Given the description of an element on the screen output the (x, y) to click on. 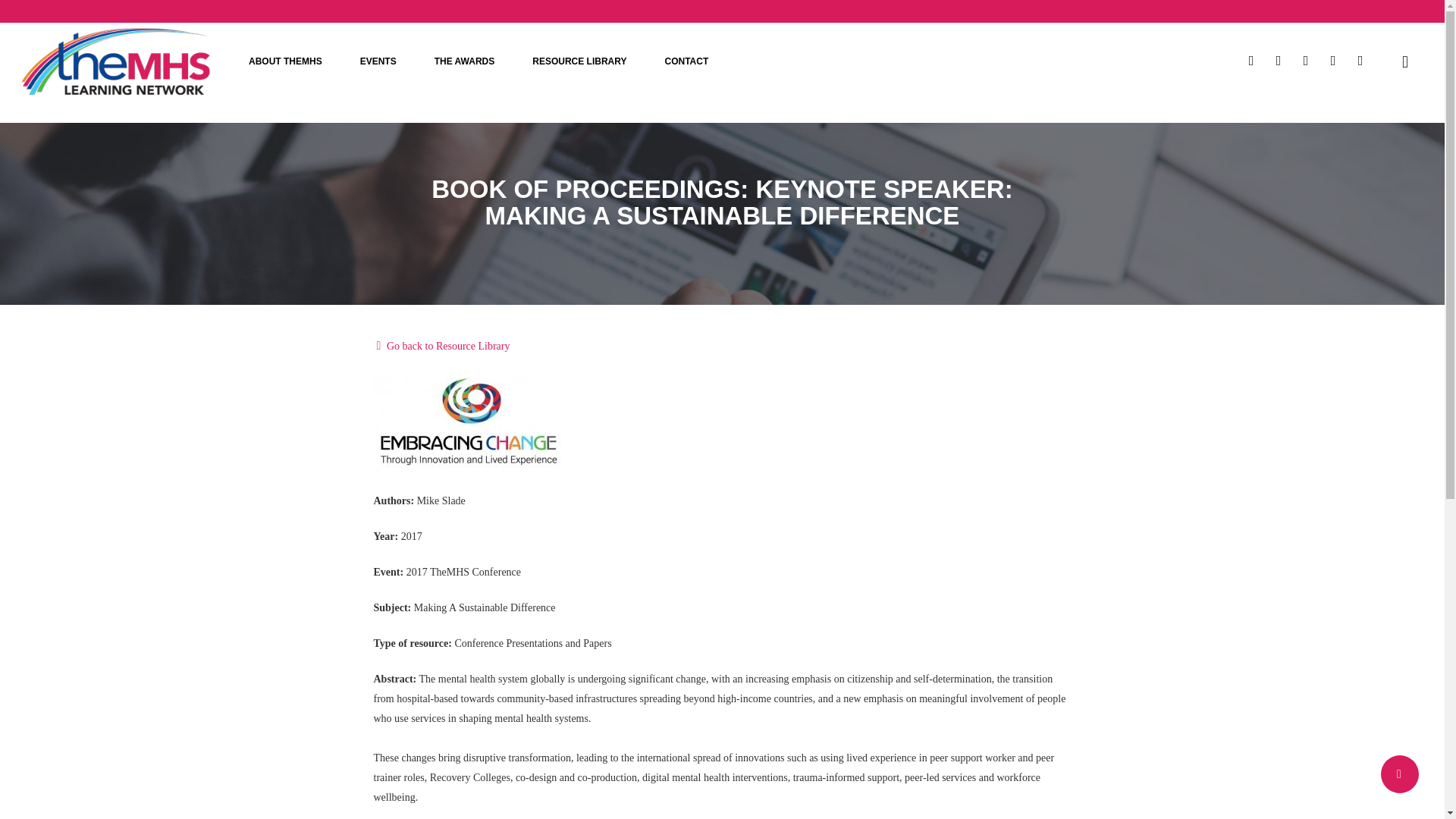
EVENTS (378, 61)
ABOUT THEMHS (285, 61)
CONTACT (686, 61)
RESOURCE LIBRARY (579, 61)
THE AWARDS (464, 61)
